Given the description of an element on the screen output the (x, y) to click on. 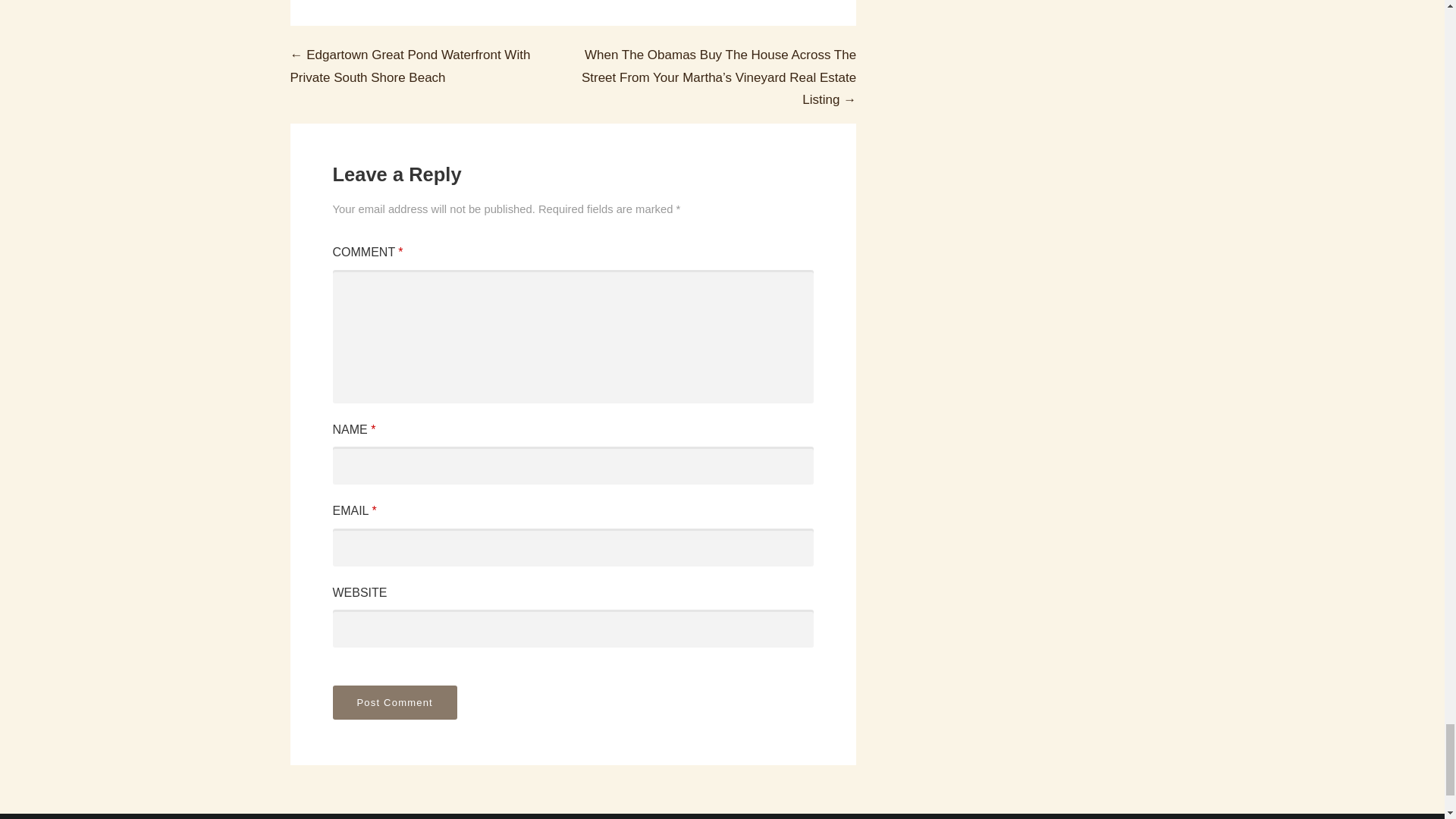
Post Comment (394, 702)
